Given the description of an element on the screen output the (x, y) to click on. 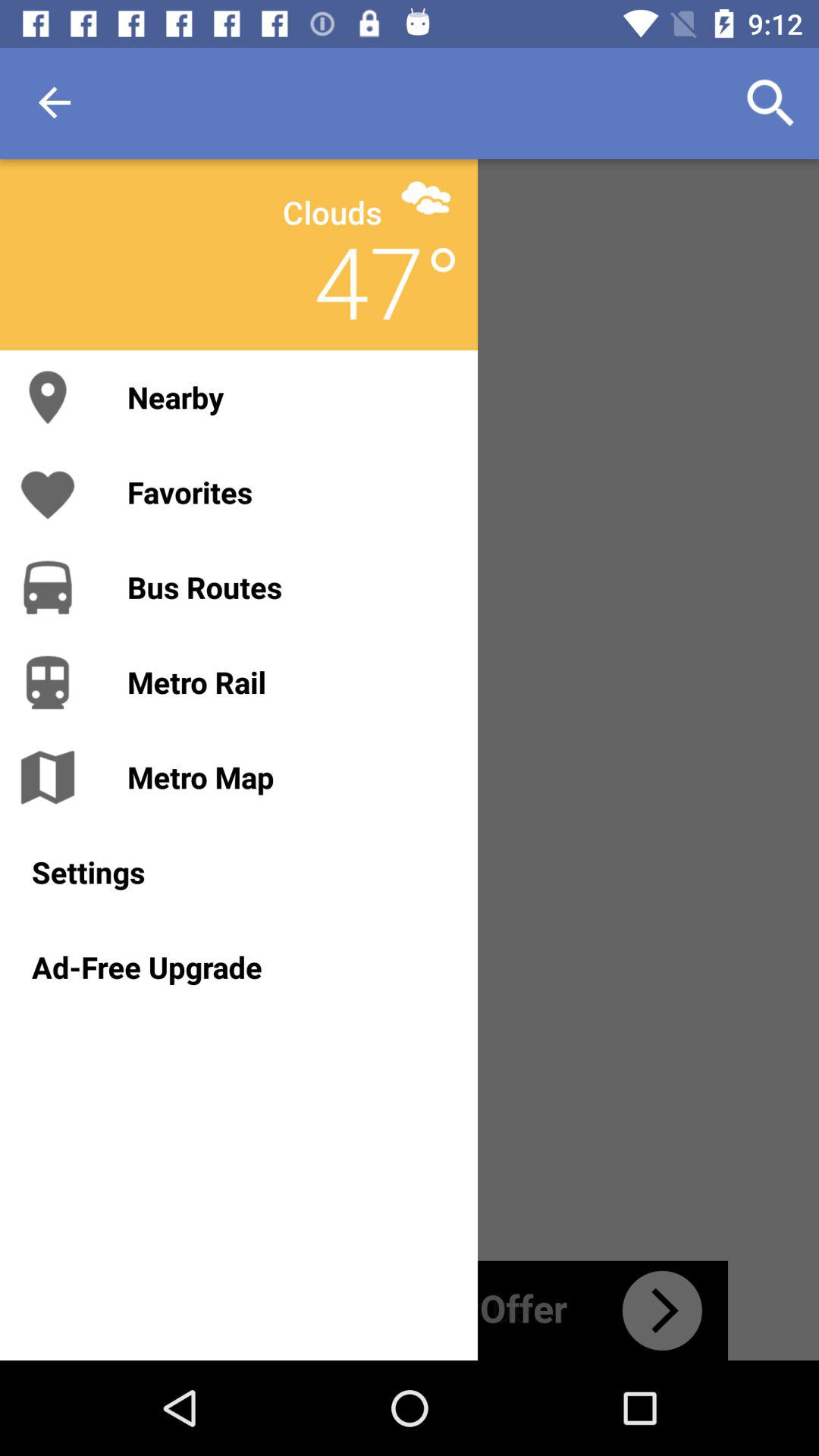
open the nearby (286, 397)
